Given the description of an element on the screen output the (x, y) to click on. 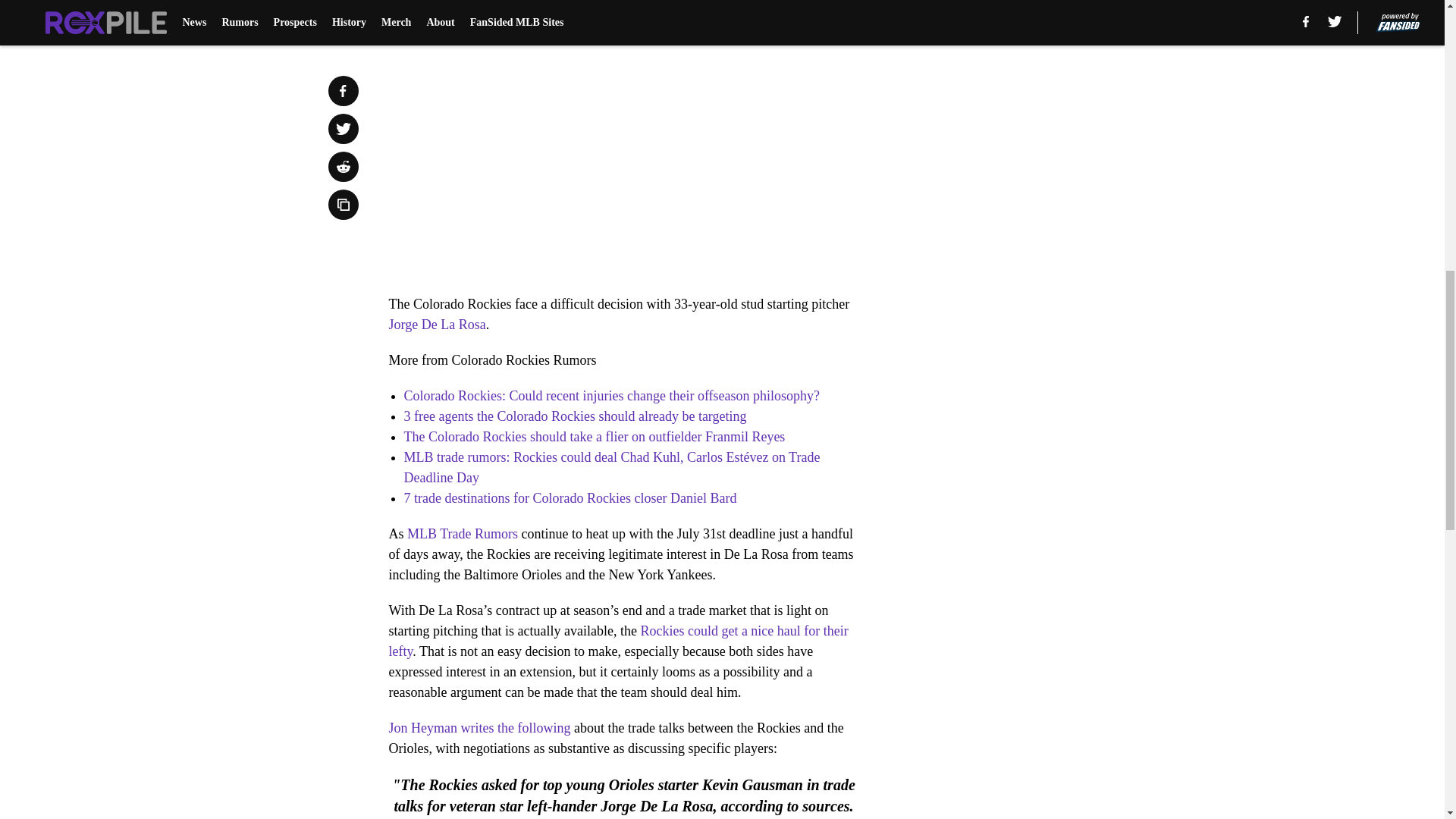
7 trade destinations for Colorado Rockies closer Daniel Bard (569, 498)
Jon Heyman writes the following (479, 727)
MLB Trade Rumors (462, 533)
Jorge De La Rosa (436, 324)
Rockies could get a nice haul for their lefty (617, 641)
